Given the description of an element on the screen output the (x, y) to click on. 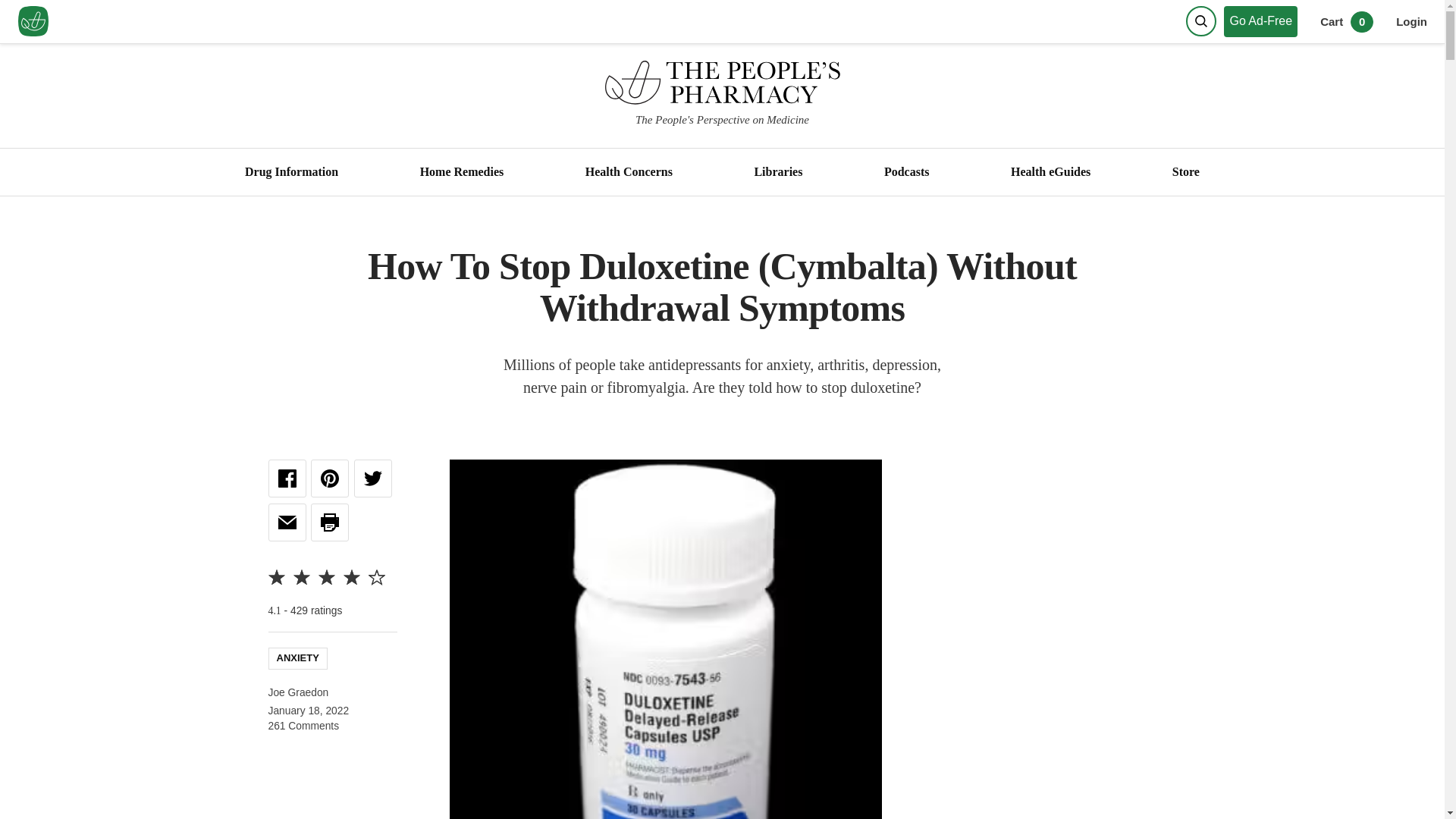
ANXIETY (297, 657)
Health eGuides (1050, 172)
Libraries (778, 172)
Go Ad-Free (1264, 20)
Cart0 (1346, 21)
Login (1411, 21)
Health Concerns (628, 172)
Joe Graedon (298, 693)
Store (1185, 172)
Drug Information (290, 172)
Podcasts (906, 172)
star-fullstar-empty (376, 576)
Home Remedies (461, 172)
